Given the description of an element on the screen output the (x, y) to click on. 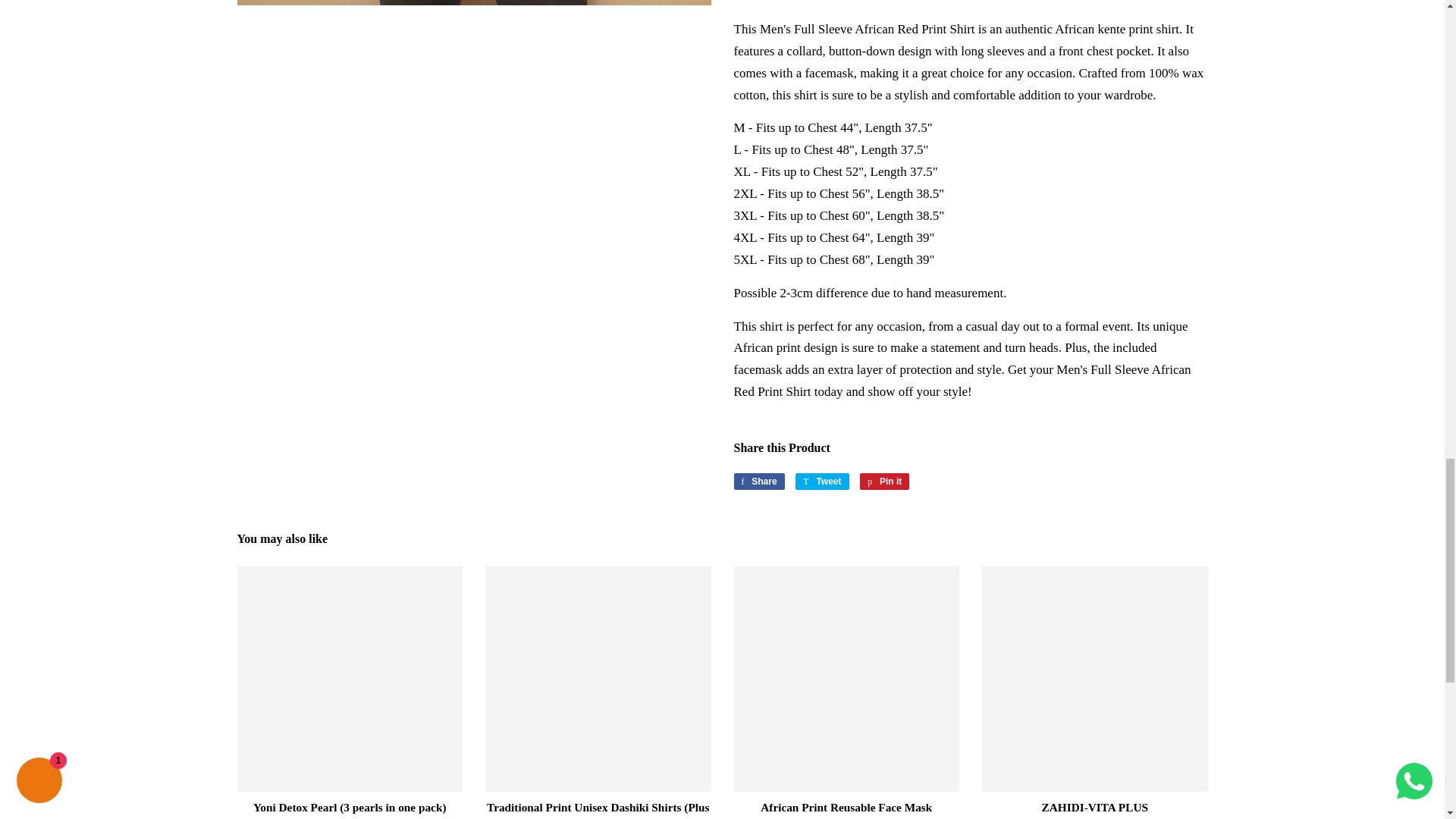
Pin on Pinterest (884, 481)
Share on Facebook (758, 481)
Tweet on Twitter (821, 481)
